Given the description of an element on the screen output the (x, y) to click on. 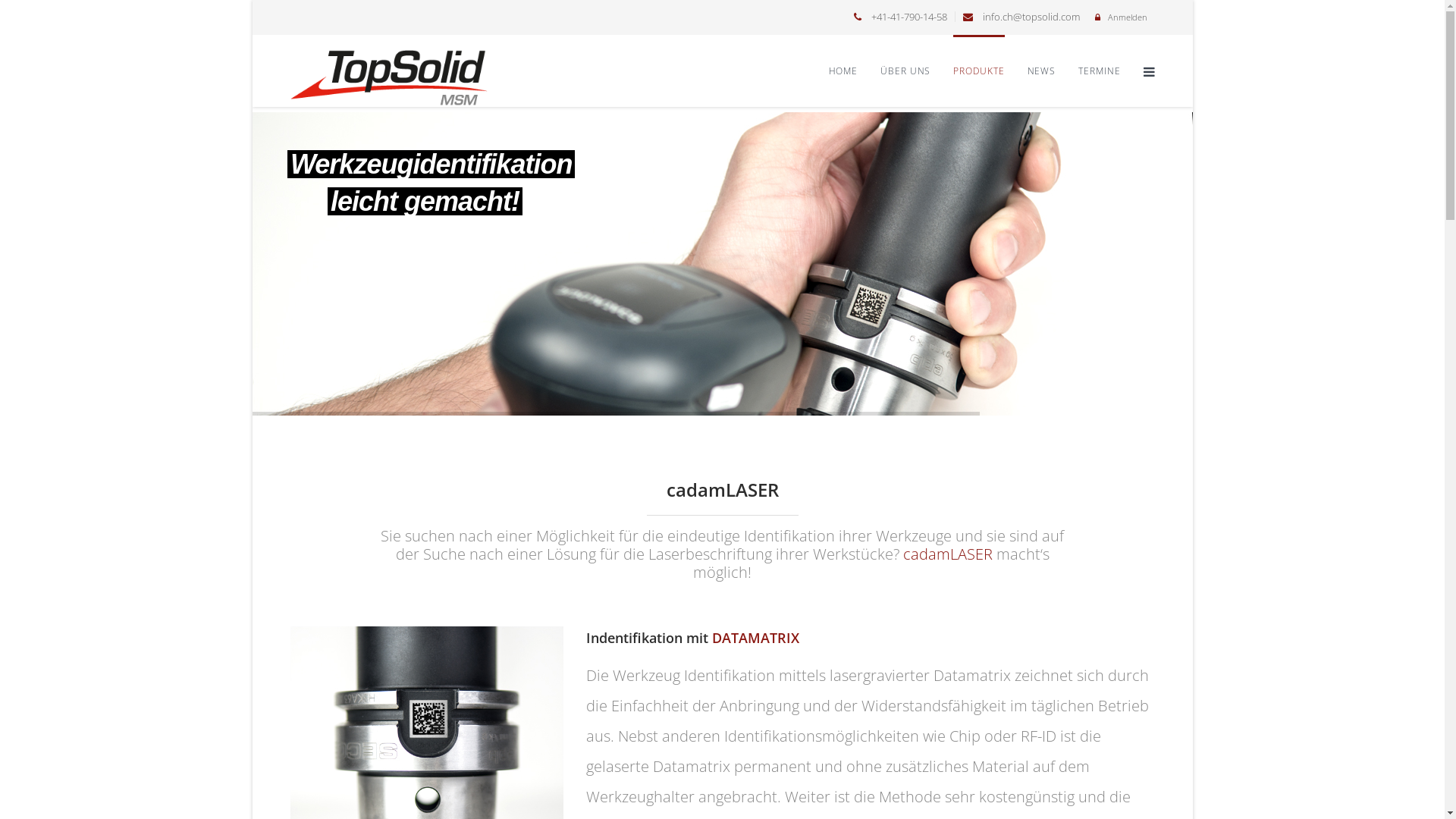
NEWS Element type: text (1041, 70)
HOME Element type: text (843, 70)
+41-41-790-14-58 Element type: text (908, 16)
TERMINE Element type: text (1099, 70)
PRODUKTE Element type: text (978, 70)
info.ch@topsolid.com Element type: text (1030, 16)
Anmelden Element type: text (1126, 16)
